Given the description of an element on the screen output the (x, y) to click on. 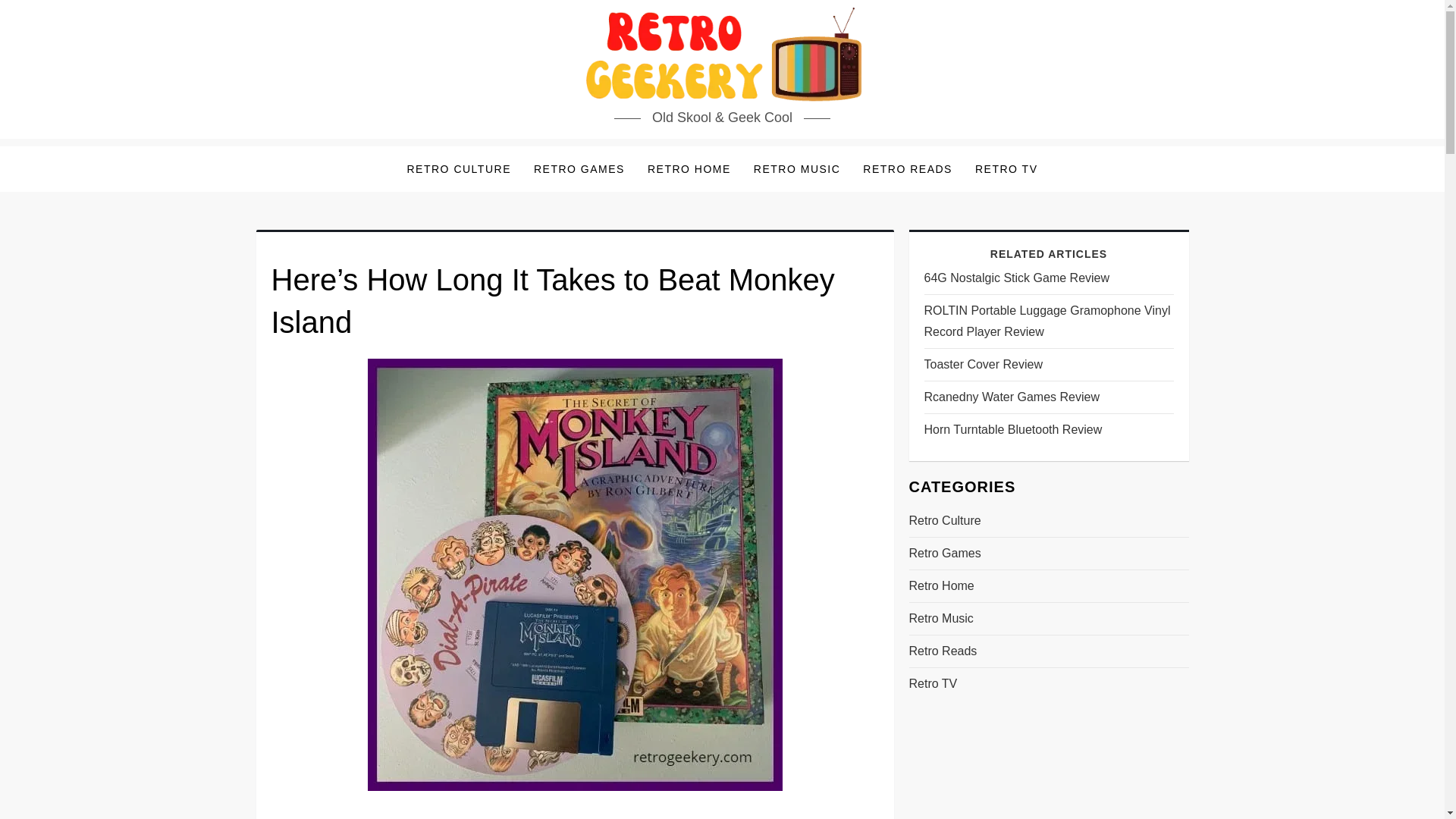
RETRO GAMES (579, 168)
RETRO CULTURE (459, 168)
RETRO MUSIC (796, 168)
RETRO HOME (689, 168)
RETRO READS (907, 168)
RETRO TV (1006, 168)
